Given the description of an element on the screen output the (x, y) to click on. 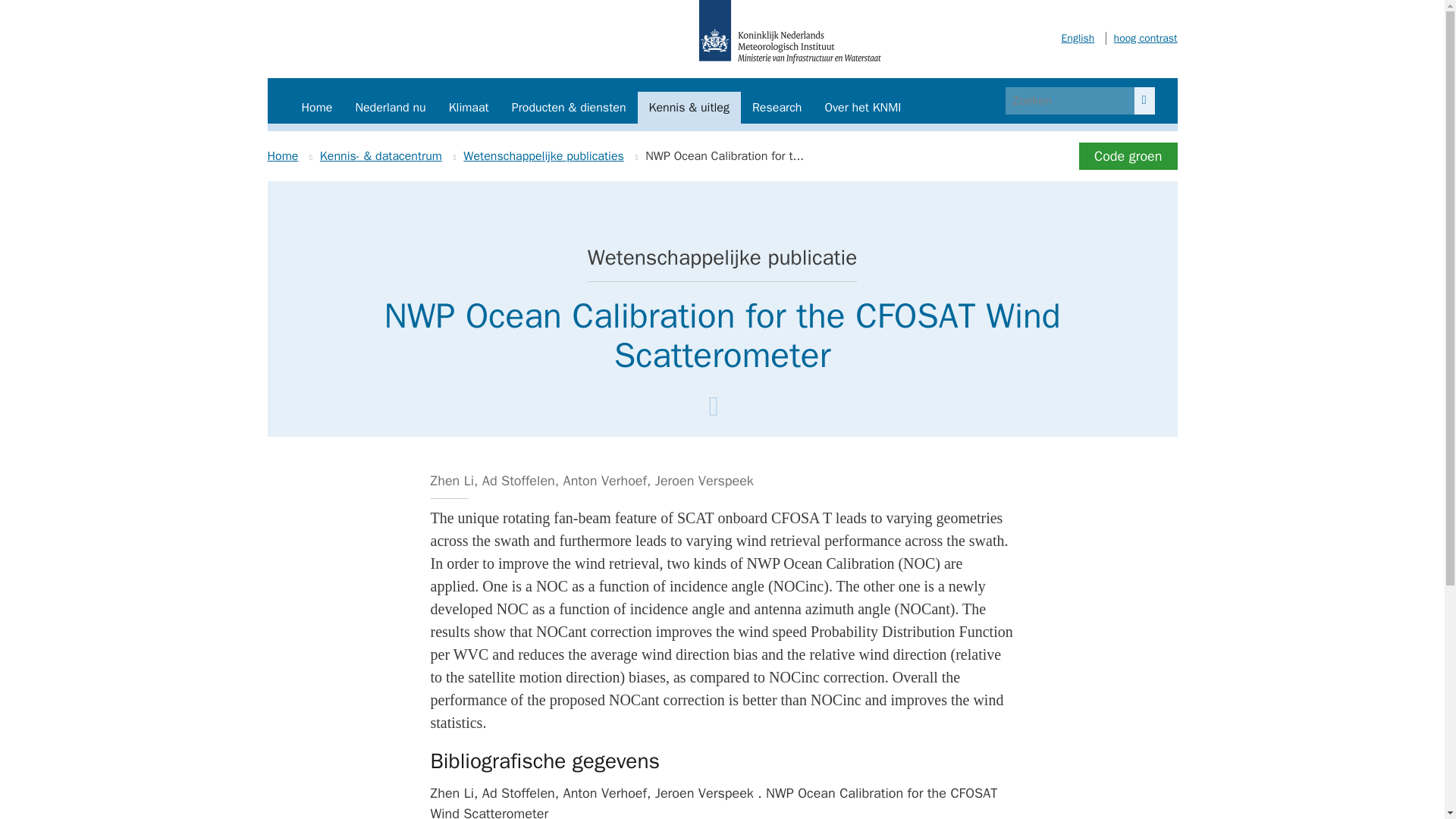
Research (777, 107)
Over het KNMI (862, 107)
Home (316, 107)
Klimaat (469, 107)
hoog contrast (1141, 38)
Nederland nu (389, 107)
English (1077, 38)
